Given the description of an element on the screen output the (x, y) to click on. 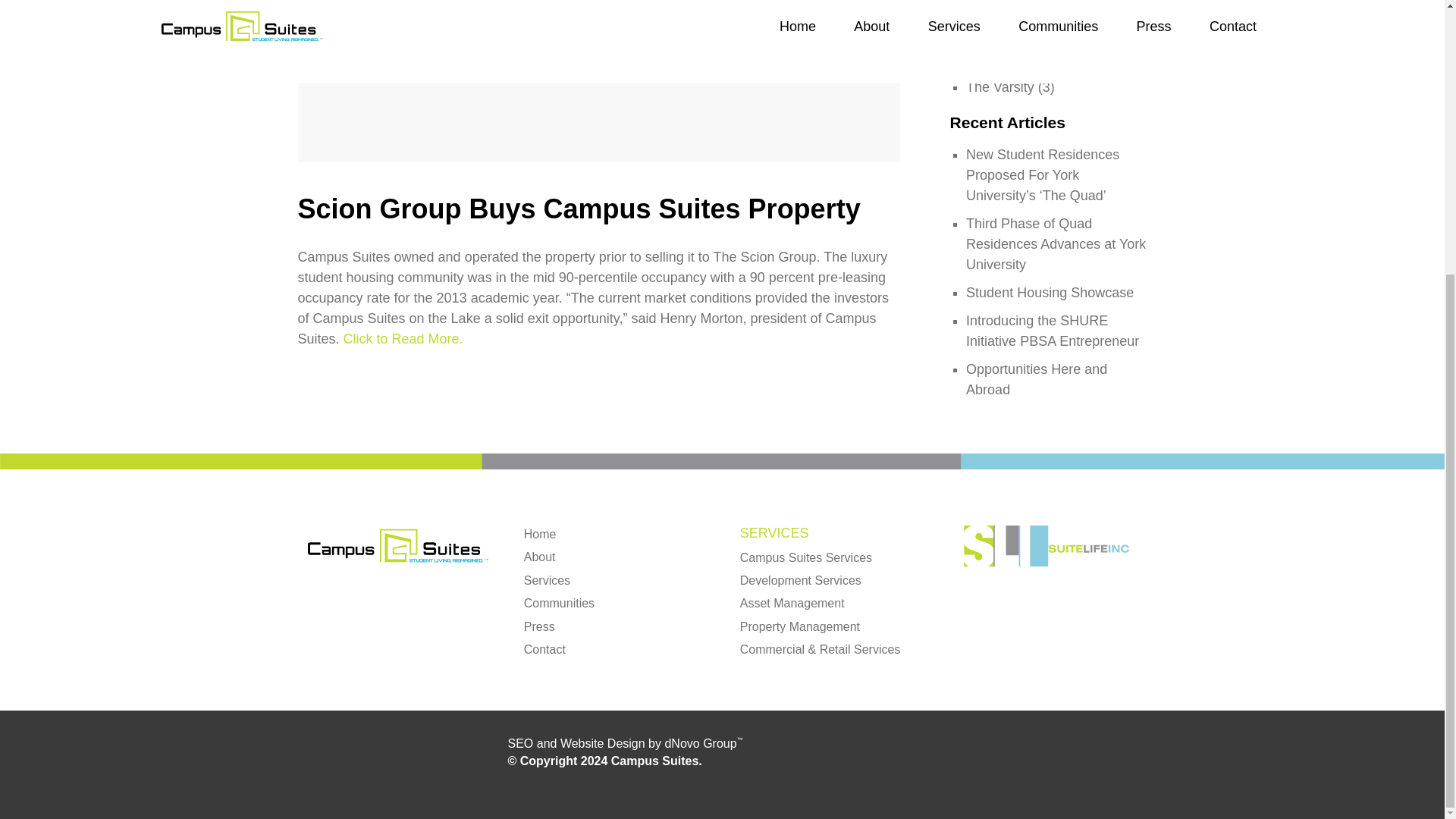
Opportunities Here and Abroad (1036, 379)
The Hub (991, 46)
Students (993, 6)
The Quad (996, 66)
Click to Read More. (403, 338)
The Arc (989, 25)
About (540, 556)
The Varsity (999, 87)
Home (540, 533)
Student Housing Showcase (1050, 292)
